Given the description of an element on the screen output the (x, y) to click on. 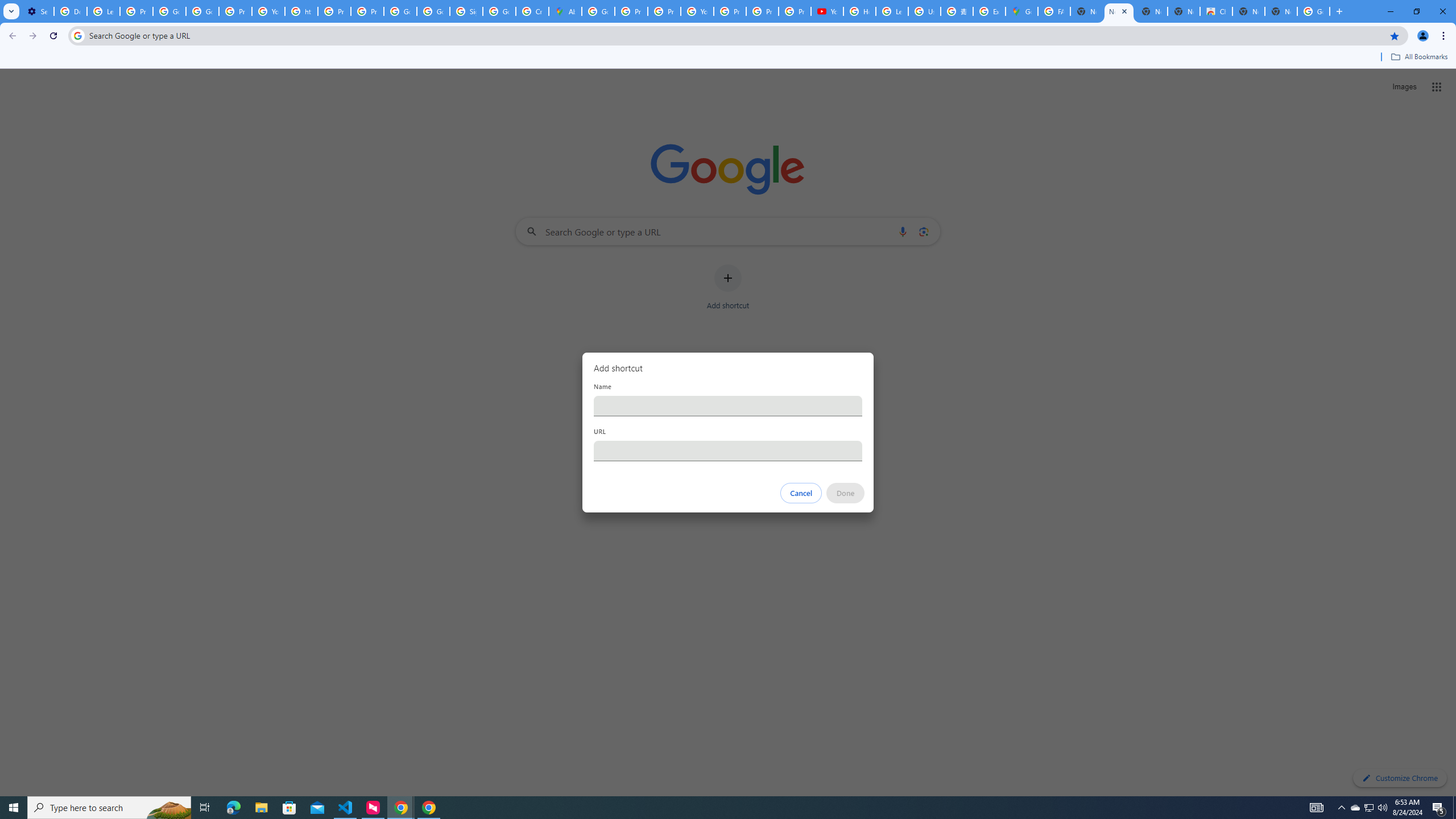
YouTube (697, 11)
Delete photos & videos - Computer - Google Photos Help (70, 11)
Name (727, 405)
Create your Google Account (532, 11)
Done (845, 493)
Google Account Help (169, 11)
